Given the description of an element on the screen output the (x, y) to click on. 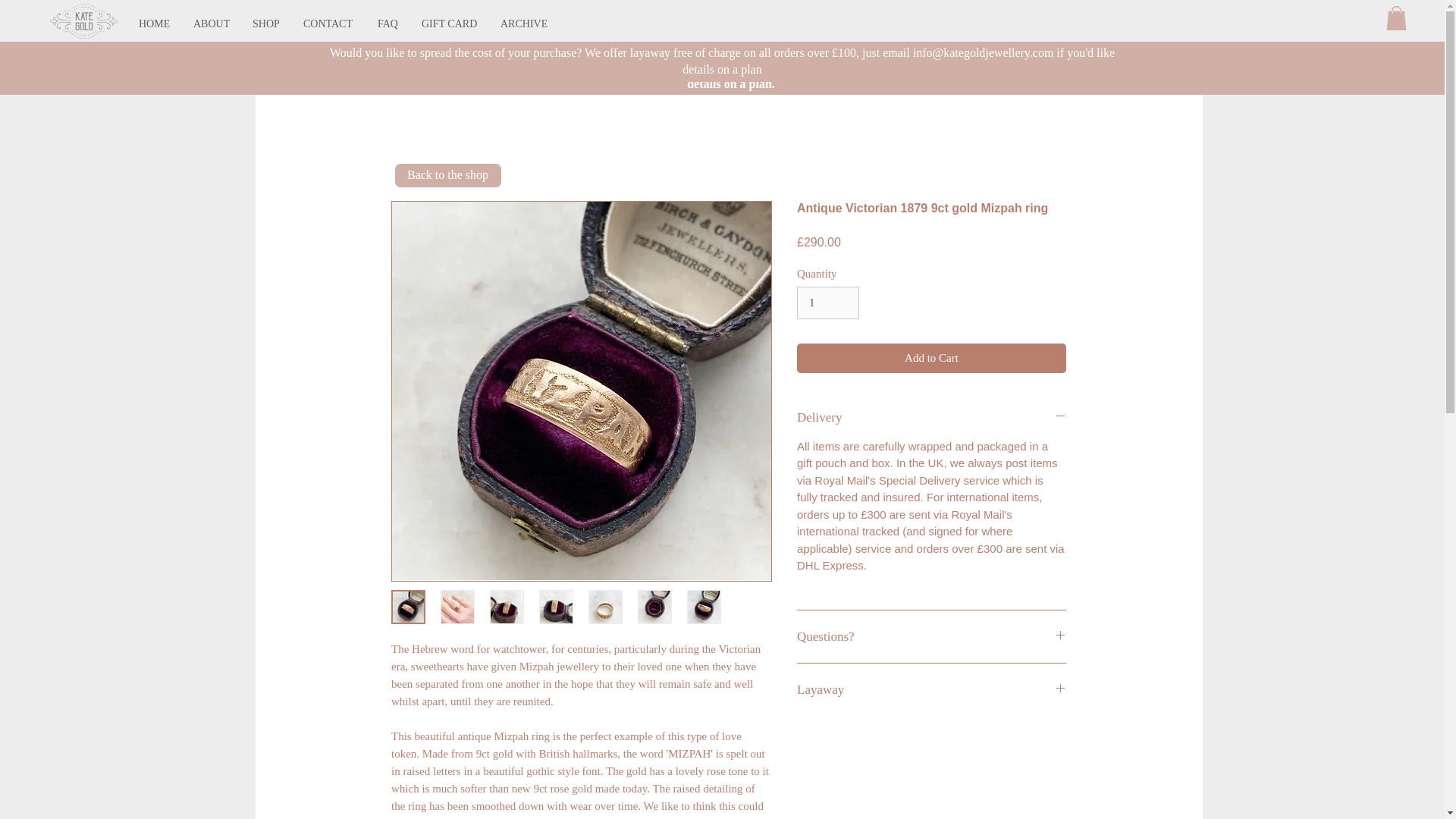
CONTACT (329, 24)
1 (827, 303)
Back to the shop (447, 175)
Delivery (930, 417)
HOME (155, 24)
Layaway (930, 689)
FAQ (388, 24)
ABOUT (211, 24)
GIFT CARD (449, 24)
ARCHIVE (524, 24)
Questions? (930, 636)
Add to Cart (930, 358)
SHOP (266, 24)
